Given the description of an element on the screen output the (x, y) to click on. 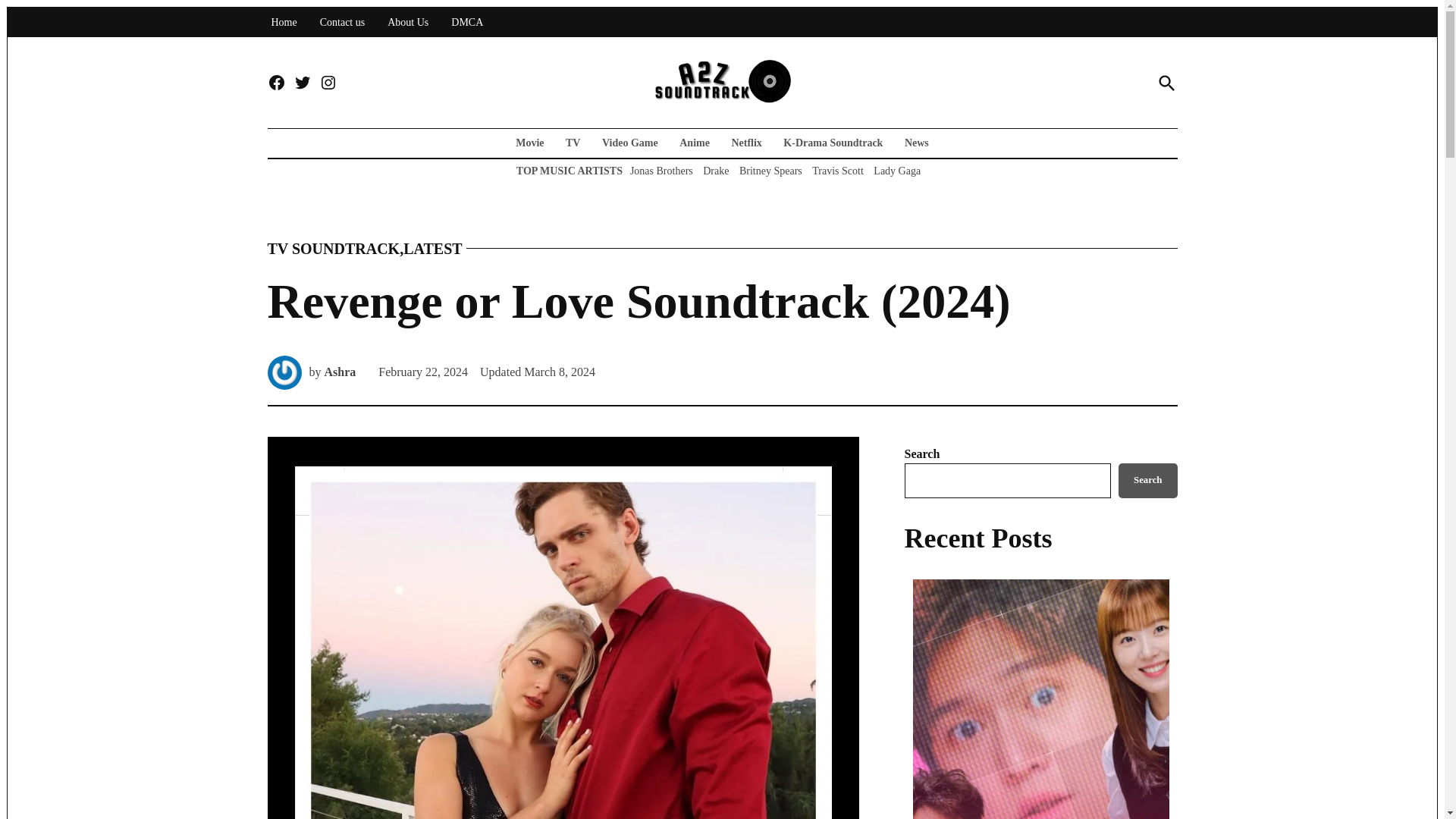
instagram (327, 82)
About Us (408, 22)
Anime (694, 142)
TV (572, 142)
K-Drama Soundtrack (832, 142)
A2Z Soundtrack (1025, 93)
Video Game (629, 142)
Contact us (342, 22)
Netflix (745, 142)
DMCA (466, 22)
twitter (301, 82)
Movie (533, 142)
Home (282, 22)
Facebook (275, 82)
